Given the description of an element on the screen output the (x, y) to click on. 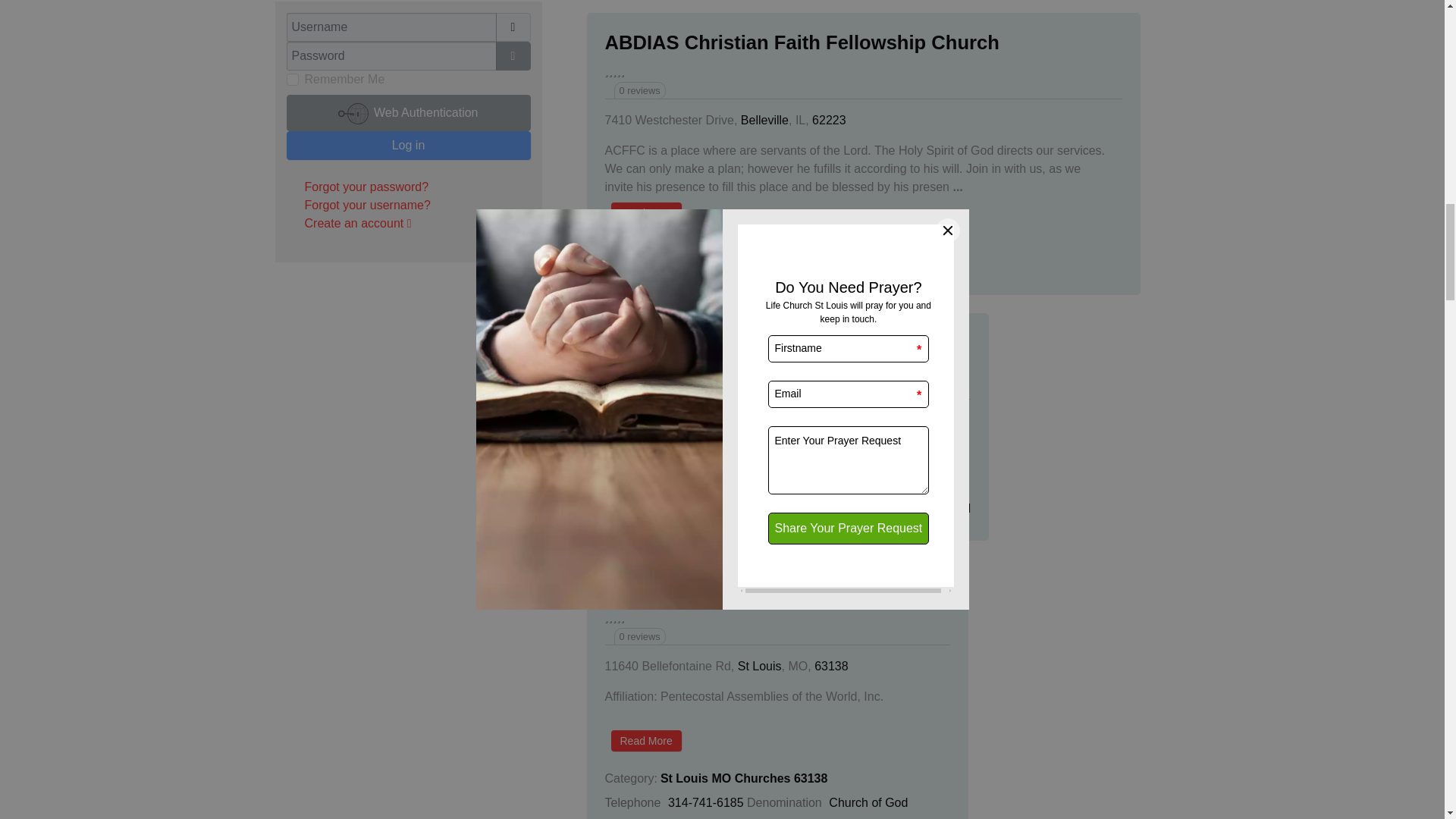
yes (292, 79)
Username (513, 27)
Web Authentication (408, 113)
Web Authentication (408, 113)
Forgot your password? (366, 186)
Log in (408, 145)
Show Password (513, 55)
Create an account (358, 223)
Forgot your username? (367, 205)
